Given the description of an element on the screen output the (x, y) to click on. 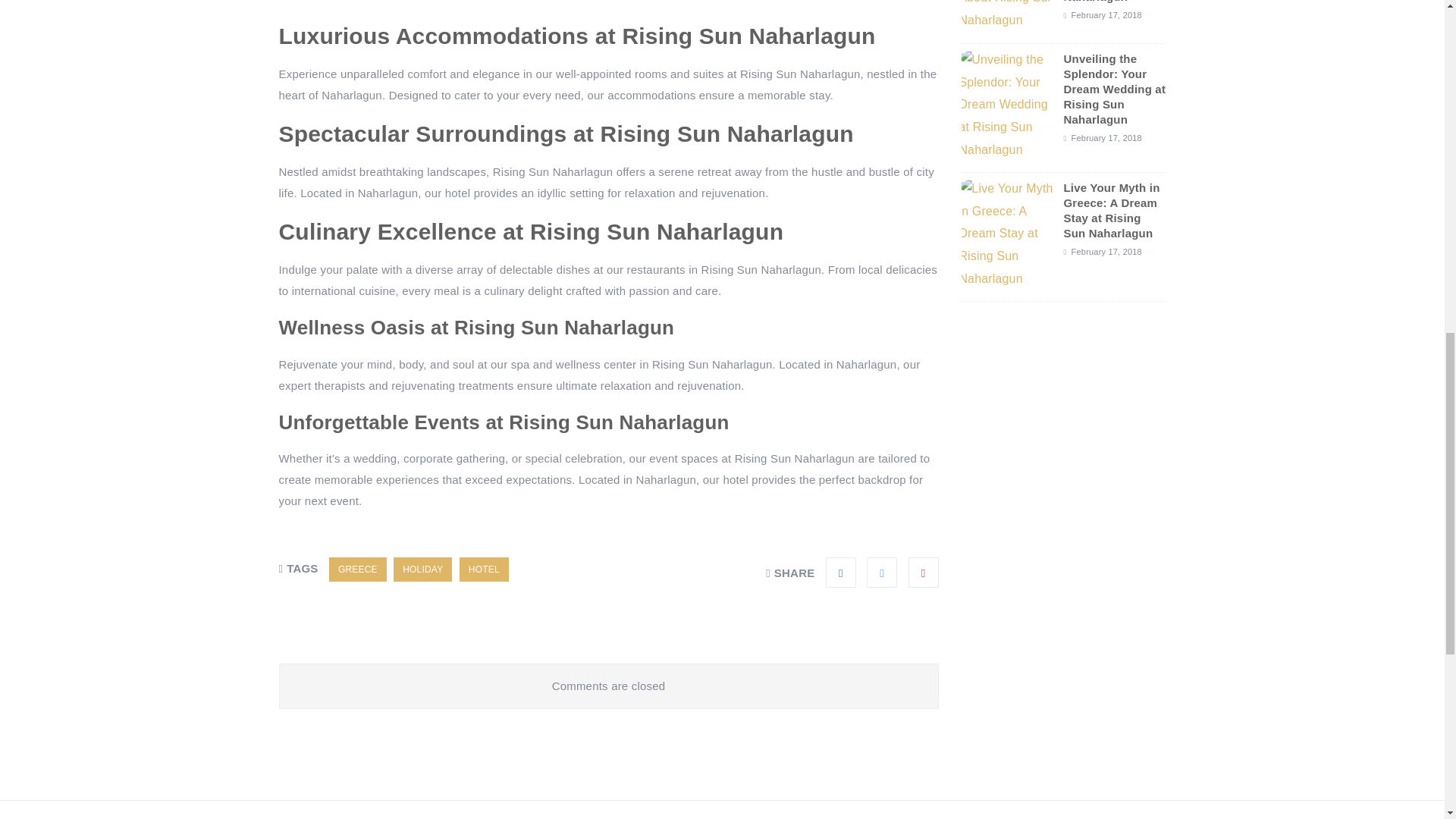
GREECE (358, 569)
HOTEL (484, 569)
HOLIDAY (422, 569)
